Given the description of an element on the screen output the (x, y) to click on. 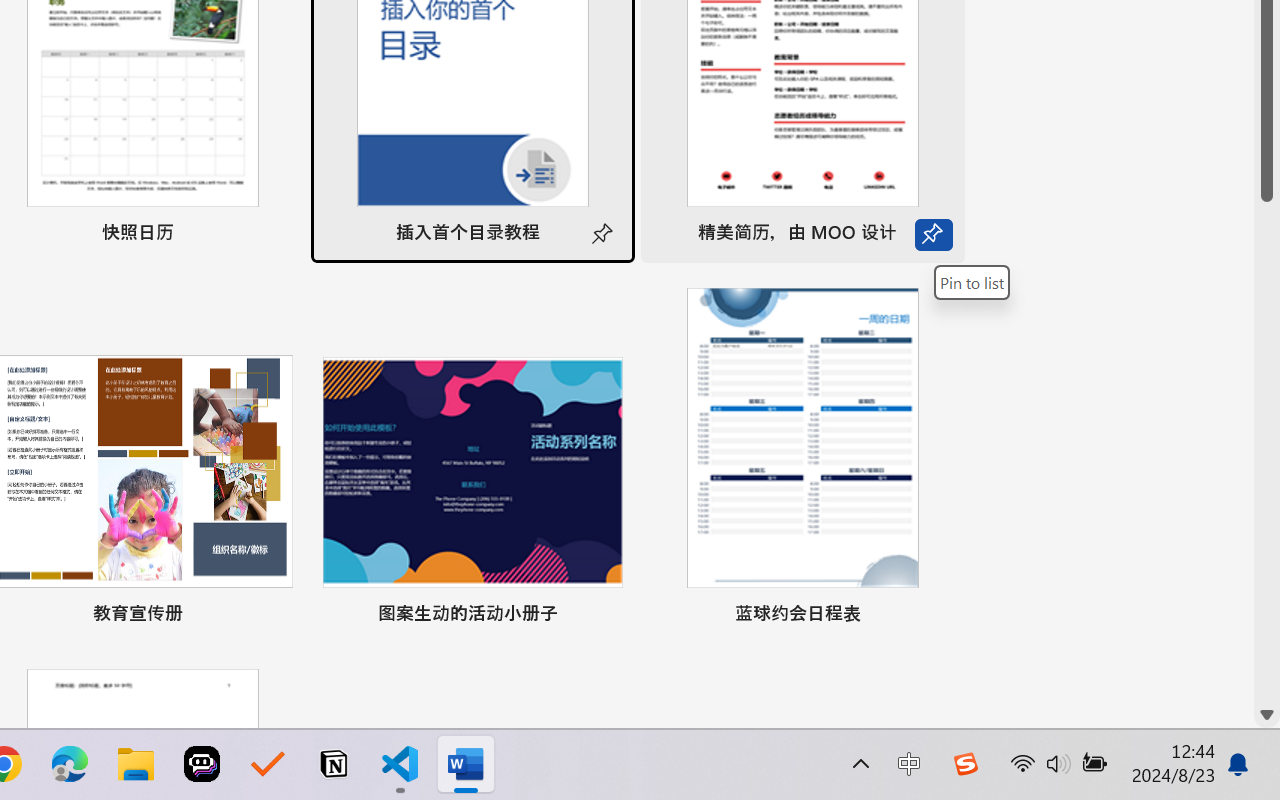
Line down (1267, 715)
Pin to list (971, 282)
Page down (1267, 451)
Pin to list (934, 616)
